Given the description of an element on the screen output the (x, y) to click on. 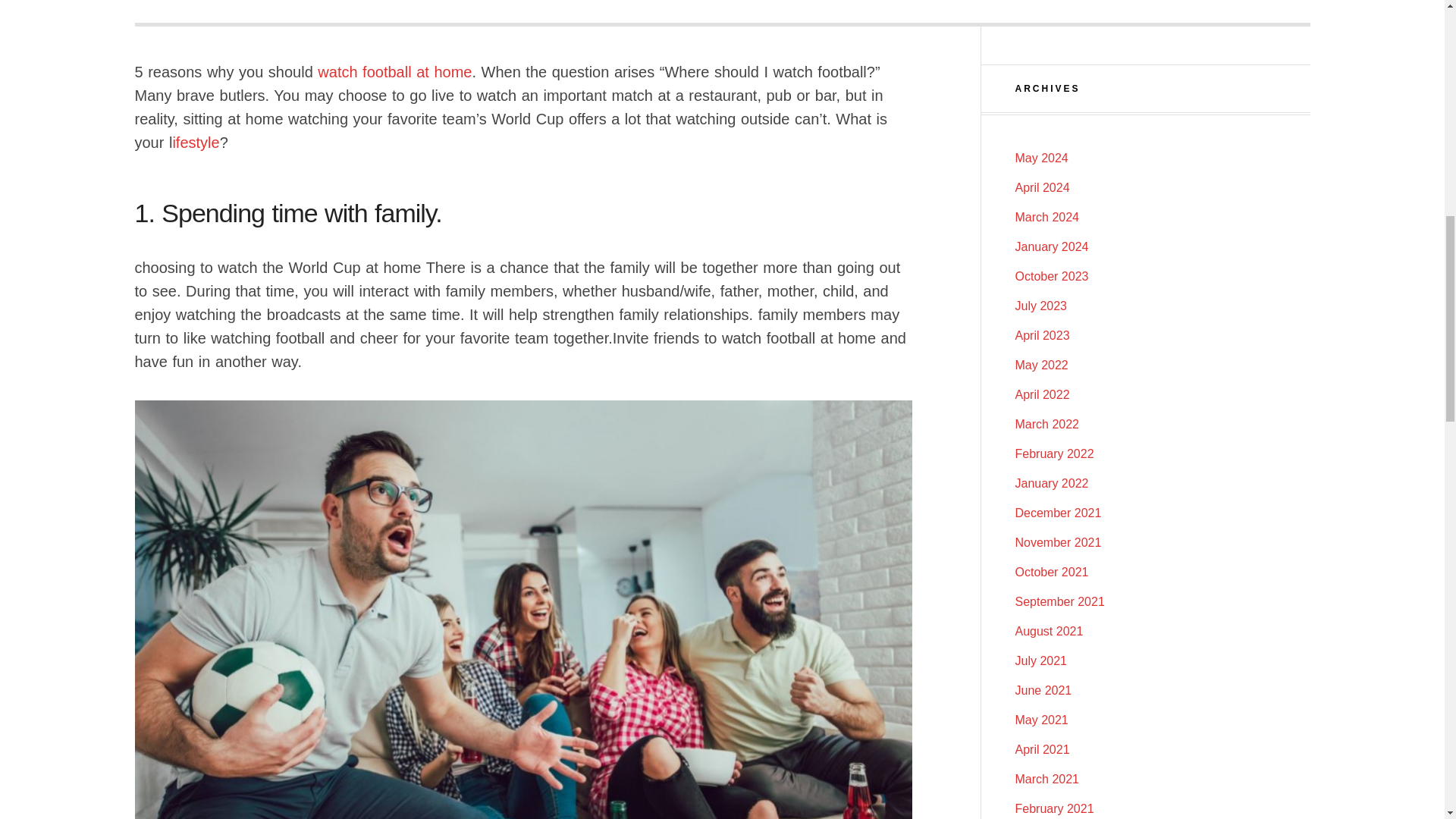
July 2023 (1040, 305)
March 2022 (1046, 423)
May 2024 (1040, 157)
April 2022 (1041, 394)
watch football at home (394, 71)
May 2022 (1040, 364)
June 2021 (1042, 689)
ifestyle (195, 142)
August 2021 (1048, 631)
April 2023 (1041, 335)
